Given the description of an element on the screen output the (x, y) to click on. 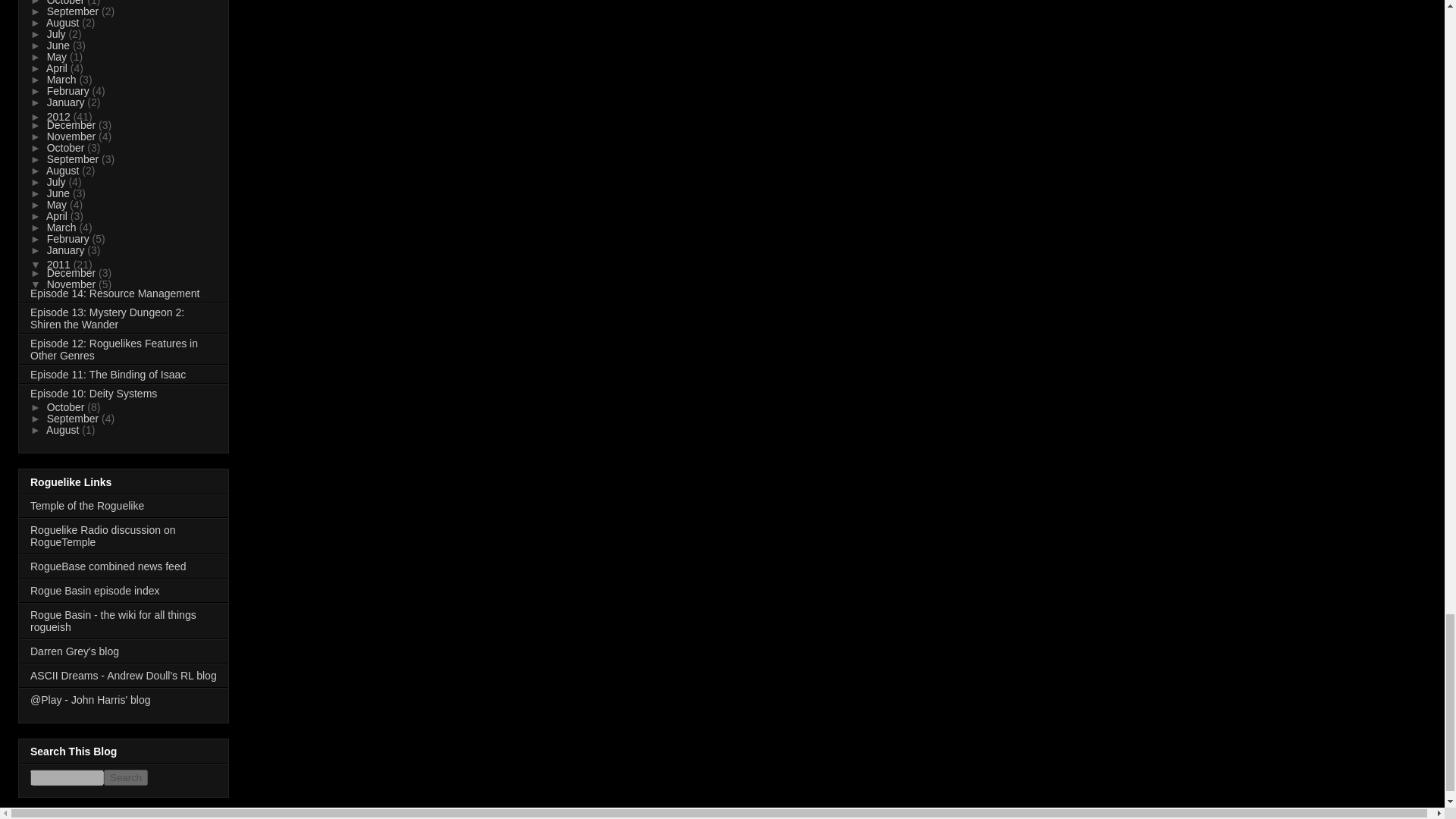
Search (125, 777)
Search (125, 777)
